Given the description of an element on the screen output the (x, y) to click on. 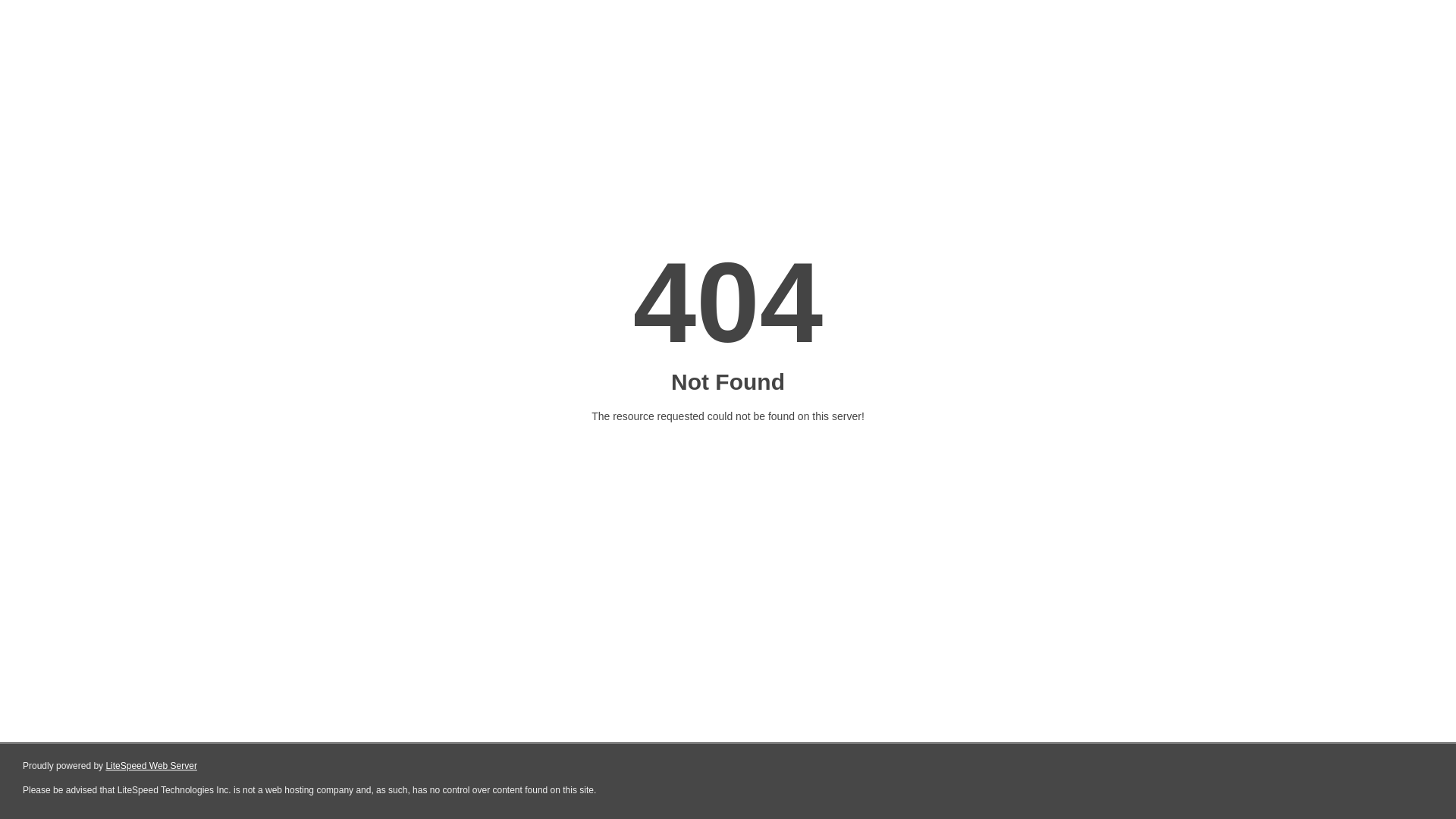
LiteSpeed Web Server Element type: text (151, 765)
